Given the description of an element on the screen output the (x, y) to click on. 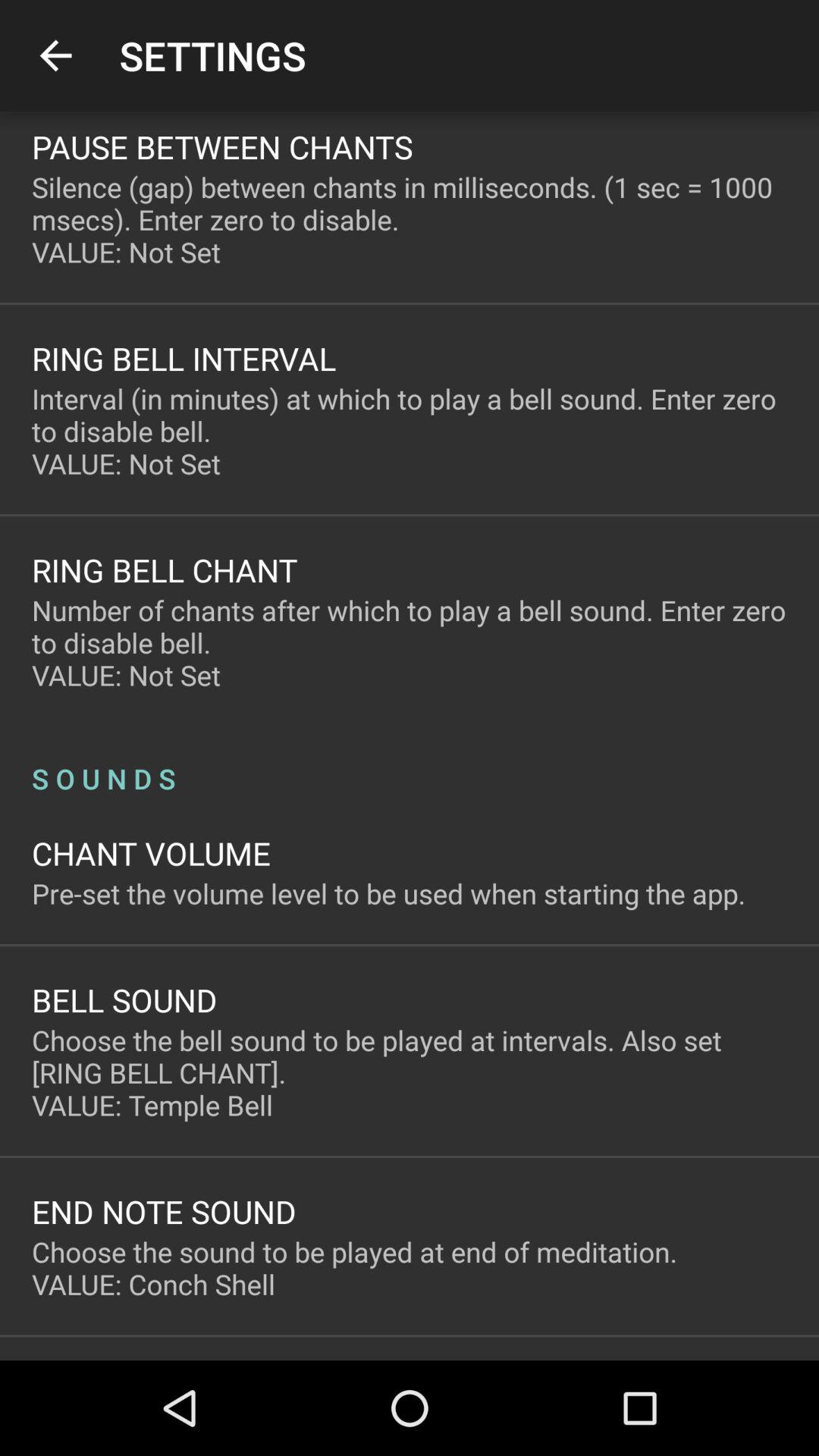
turn off the s o u (409, 762)
